Given the description of an element on the screen output the (x, y) to click on. 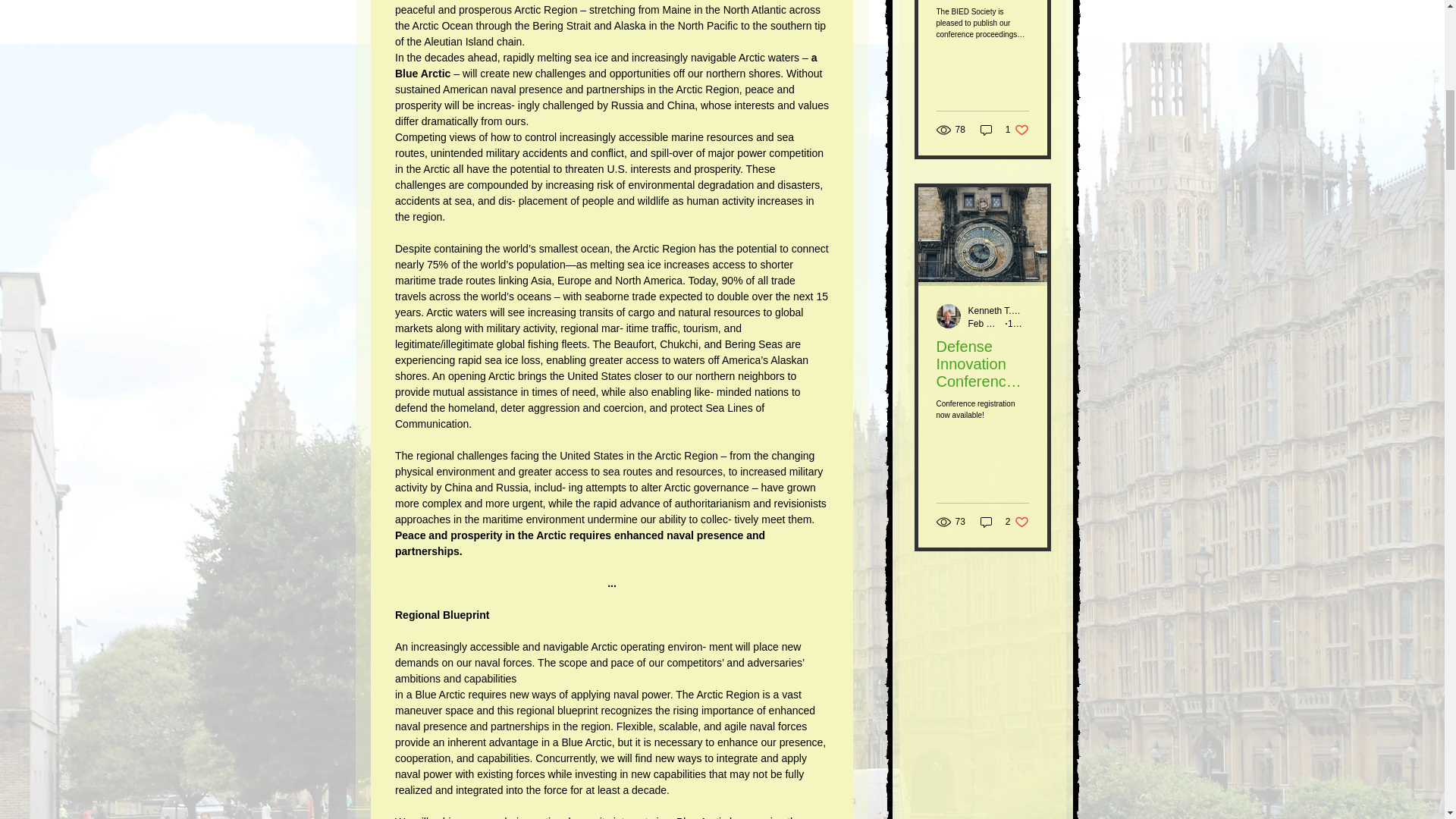
1 min (1018, 323)
Feb 26, 2023 (995, 323)
